Given the description of an element on the screen output the (x, y) to click on. 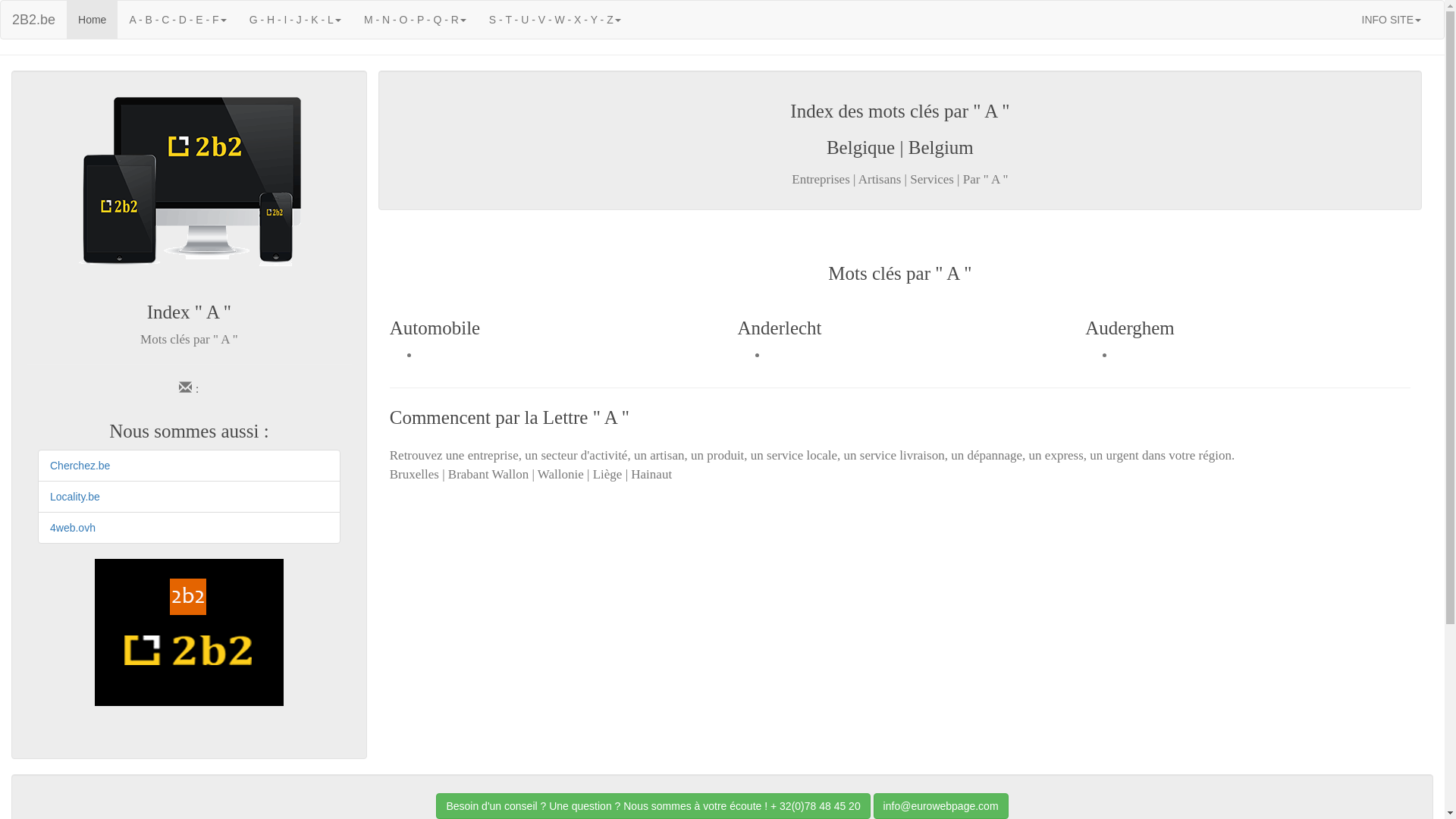
Index entreprise Element type: hover (188, 632)
INFO SITE Element type: text (1391, 19)
4web.ovh Element type: text (72, 527)
A - B - C - D - E - F Element type: text (177, 19)
Cherchez.be Element type: text (79, 465)
G - H - I - J - K - L Element type: text (295, 19)
Home
(current) Element type: text (91, 19)
Locality.be Element type: text (75, 496)
S - T - U - V - W - X - Y - Z Element type: text (554, 19)
2B2.be Element type: text (33, 19)
M - N - O - P - Q - R Element type: text (414, 19)
